Given the description of an element on the screen output the (x, y) to click on. 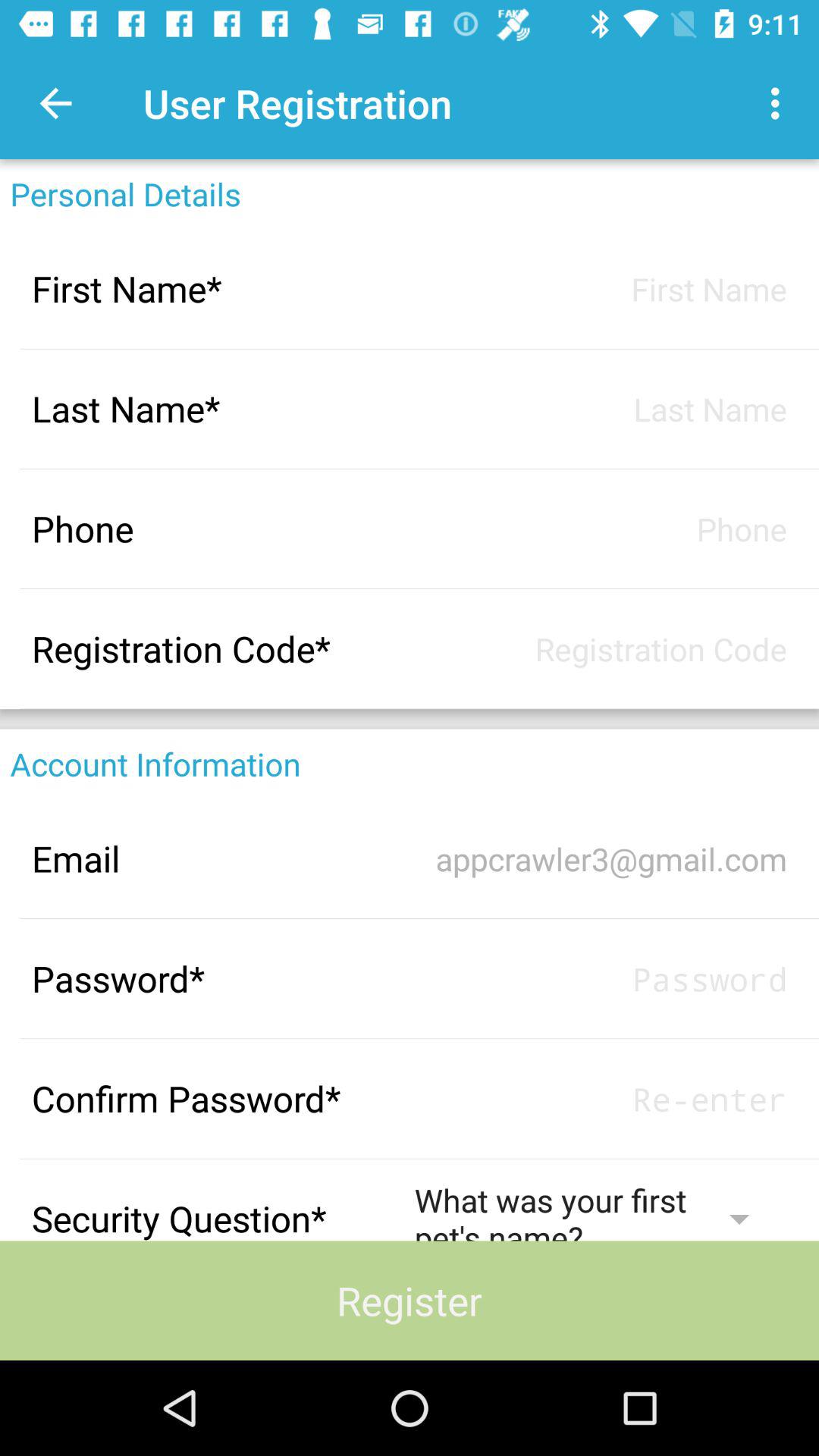
shows password enter box (600, 1098)
